Given the description of an element on the screen output the (x, y) to click on. 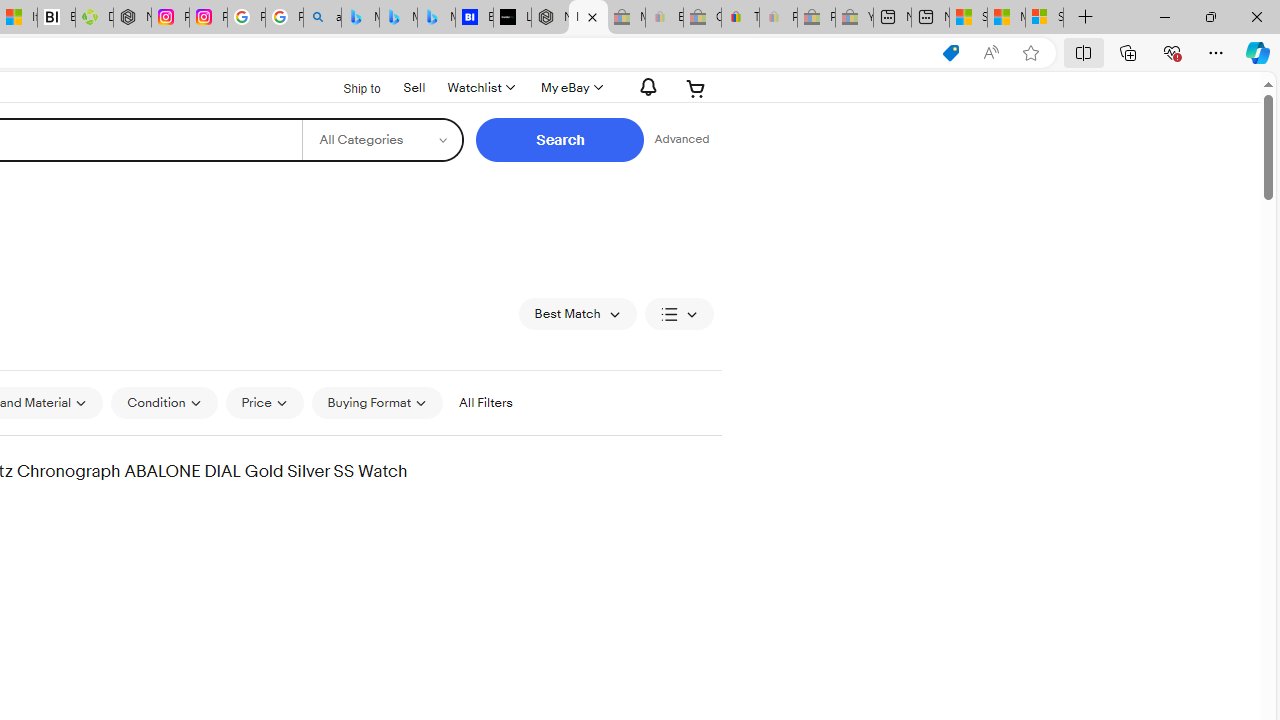
My eBay (569, 88)
All Filters (485, 402)
Yard, Garden & Outdoor Living - Sleeping (853, 17)
Buying Format (377, 402)
Threats and offensive language policy | eBay (740, 17)
Microsoft Bing Travel - Flights from Hong Kong to Bangkok (359, 17)
